Given the description of an element on the screen output the (x, y) to click on. 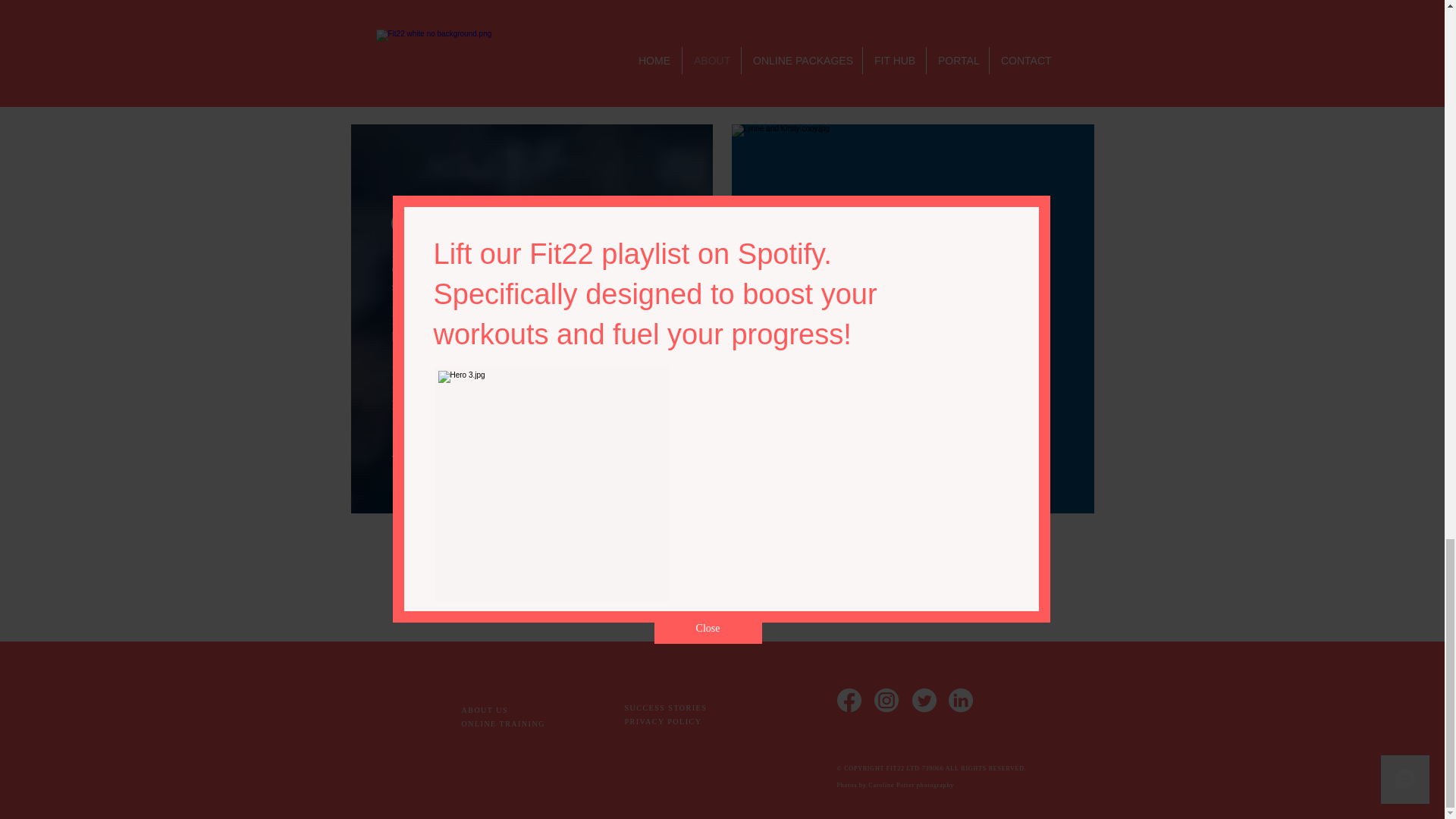
ONLINE TRAINING (502, 723)
SUCCESS STORIES (665, 714)
ABOUT US (484, 709)
PRIVACY POLICY (662, 721)
